Given the description of an element on the screen output the (x, y) to click on. 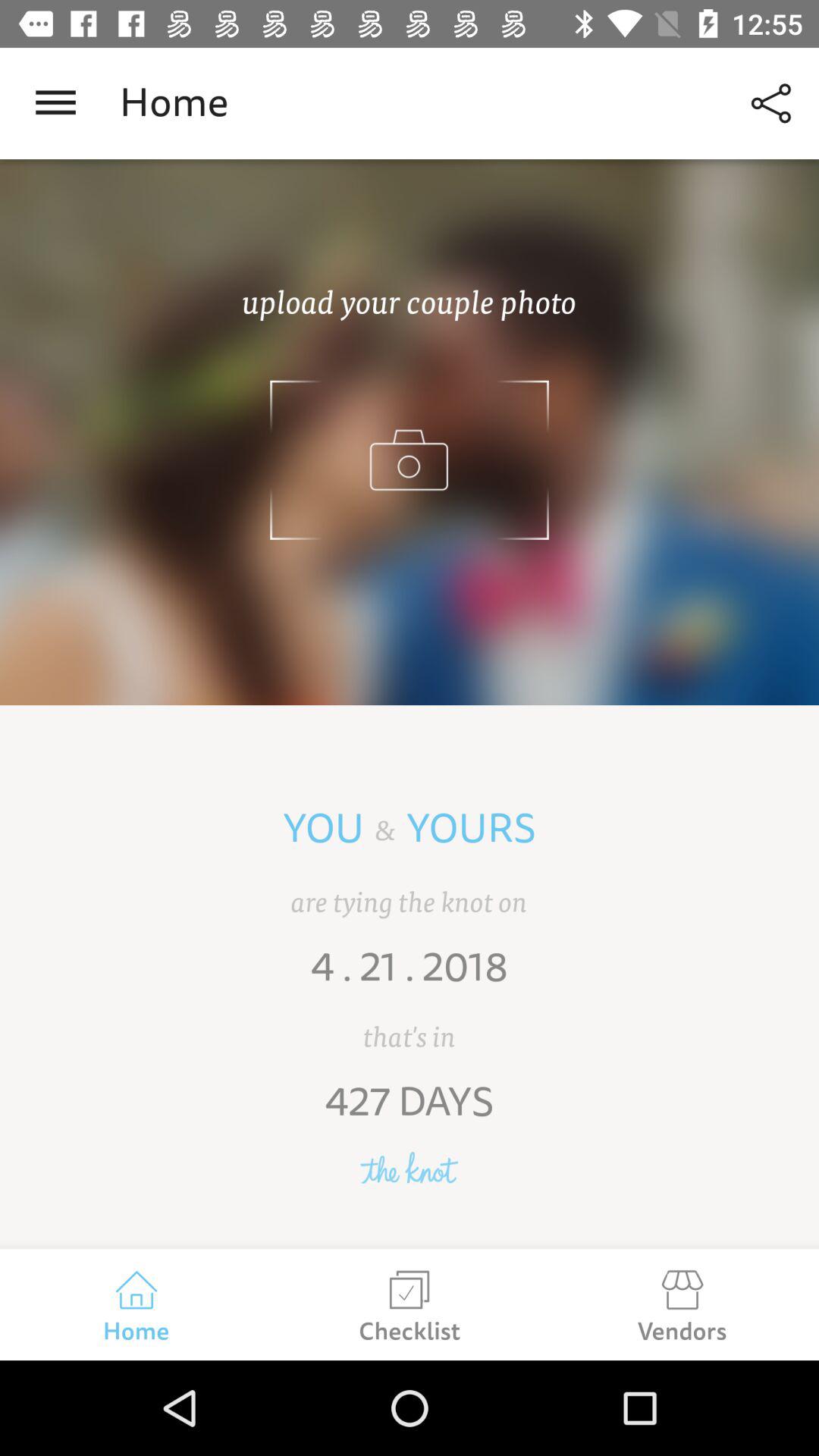
upload selected photo (409, 432)
